Given the description of an element on the screen output the (x, y) to click on. 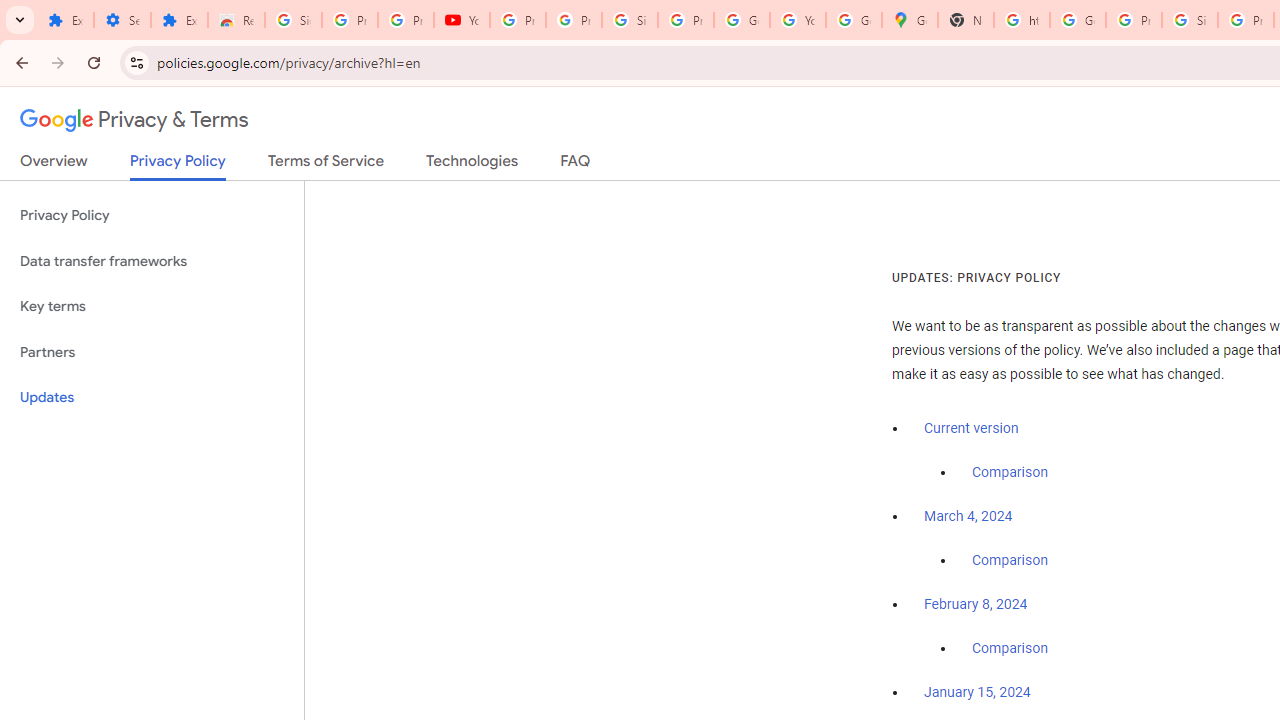
New Tab (966, 20)
Sign in - Google Accounts (293, 20)
Sign in - Google Accounts (629, 20)
https://scholar.google.com/ (1021, 20)
